Given the description of an element on the screen output the (x, y) to click on. 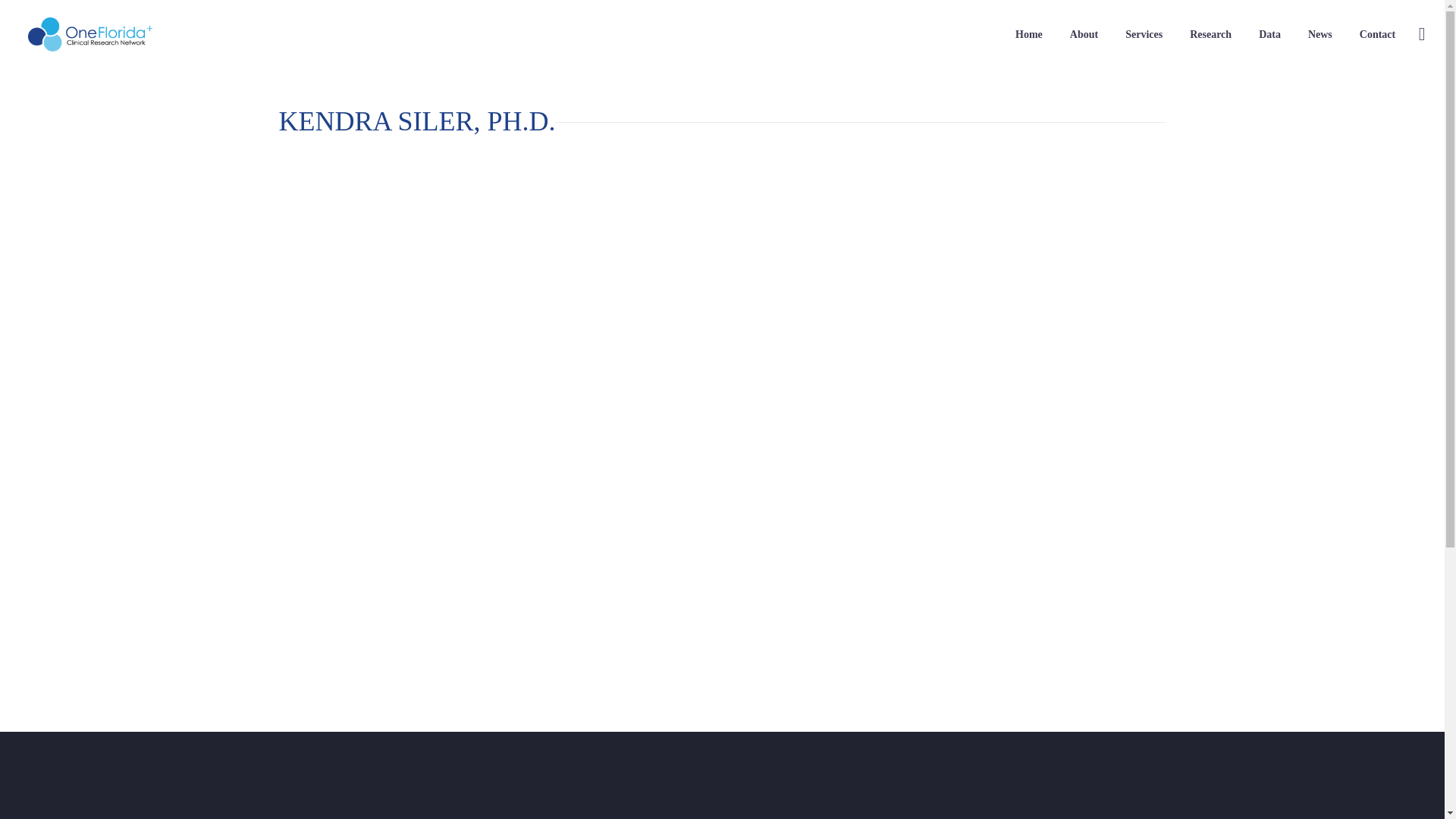
Research (1210, 34)
Home (1029, 34)
Data (1269, 34)
Services (1143, 34)
News (1320, 34)
Contact (1377, 34)
About (1083, 34)
